Given the description of an element on the screen output the (x, y) to click on. 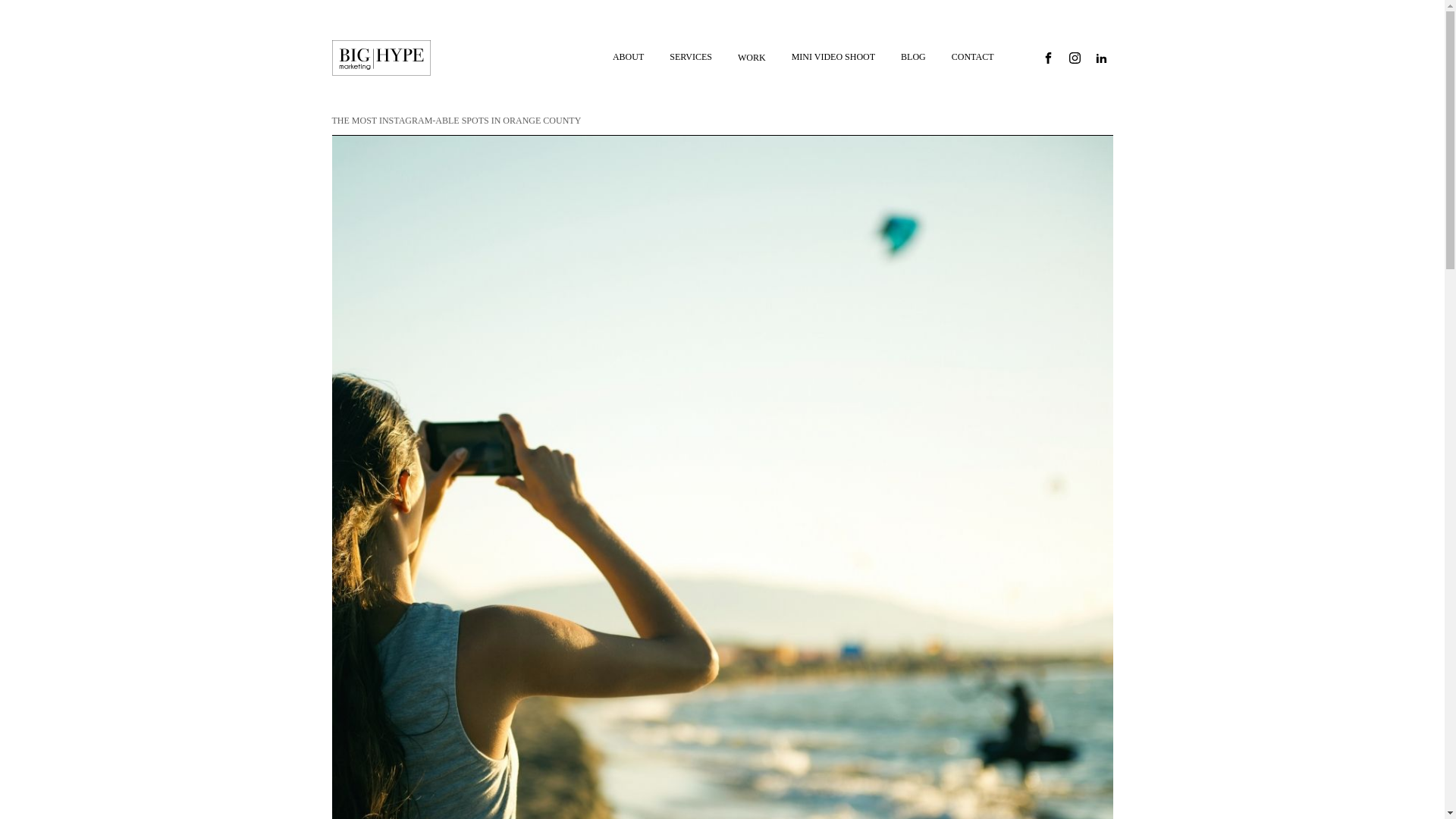
BLOG (913, 56)
WORK (751, 57)
CONTACT (973, 56)
ABOUT (627, 56)
MINI VIDEO SHOOT (833, 56)
SERVICES (690, 56)
